Given the description of an element on the screen output the (x, y) to click on. 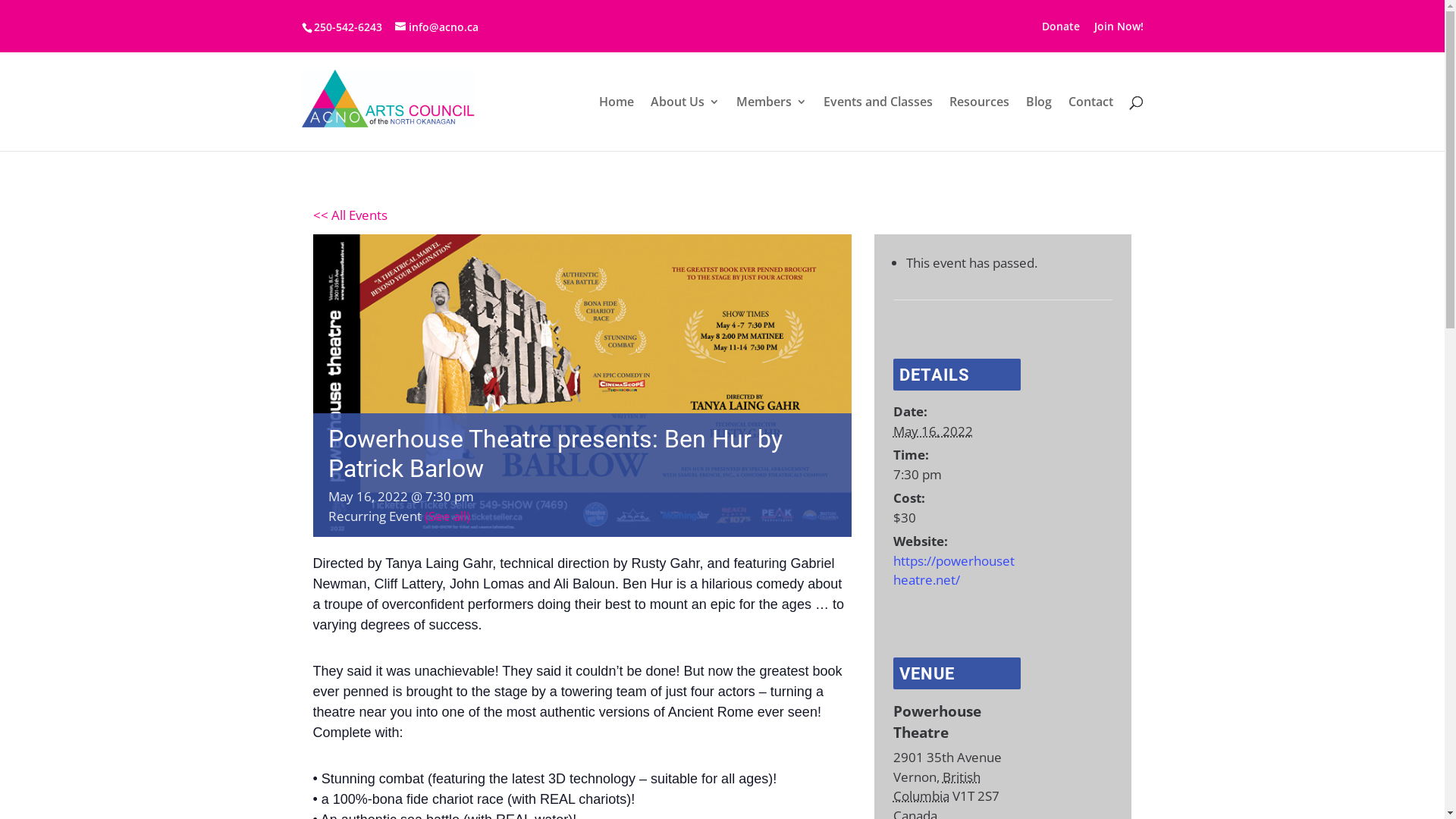
<< All Events Element type: text (349, 214)
Join Now! Element type: text (1117, 30)
Members Element type: text (770, 123)
Blog Element type: text (1038, 123)
Home Element type: text (616, 123)
Donate Element type: text (1060, 30)
Events and Classes Element type: text (877, 123)
About Us Element type: text (684, 123)
https://powerhousetheatre.net/ Element type: text (953, 570)
(See all) Element type: text (447, 515)
Resources Element type: text (979, 123)
info@acno.ca Element type: text (435, 26)
Contact Element type: text (1089, 123)
